Given the description of an element on the screen output the (x, y) to click on. 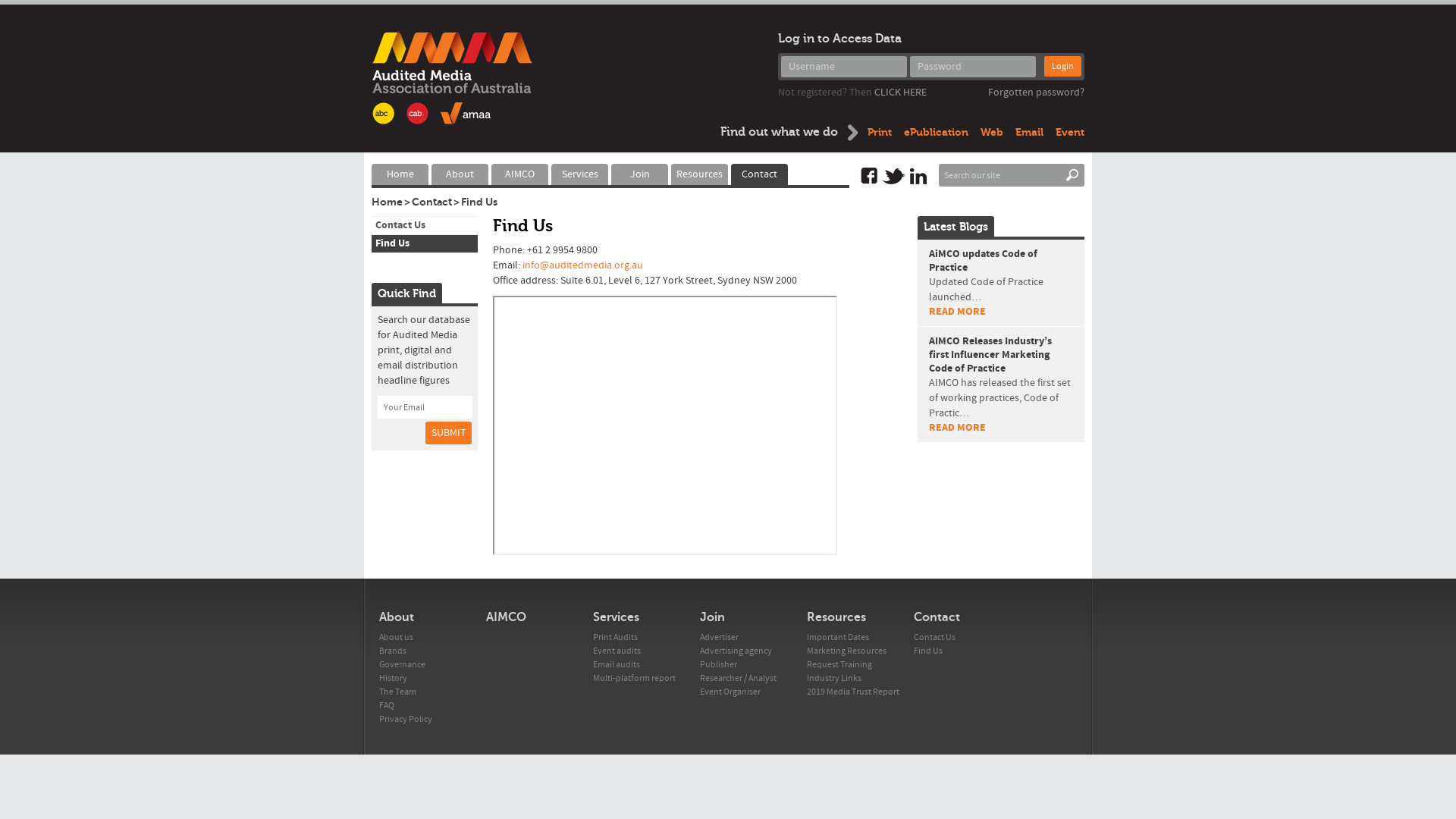
Governance Element type: text (402, 664)
Industry Links Element type: text (833, 678)
2019 Media Trust Report Element type: text (852, 691)
Print Audits Element type: text (615, 637)
About Element type: text (459, 174)
Privacy Policy Element type: text (405, 718)
Find Us Element type: text (390, 243)
Linkedin Element type: text (918, 175)
Event Organiser Element type: text (729, 691)
AMAA Element type: text (452, 77)
Marketing Resources Element type: text (846, 650)
Forgotten password? Element type: text (1036, 92)
Services Element type: text (616, 617)
Find Us Element type: text (927, 650)
Resources Element type: text (699, 174)
Event audits Element type: text (616, 650)
Resources Element type: text (836, 617)
AiMCO updates Code of Practice Element type: text (982, 260)
The Team Element type: text (397, 691)
Important Dates Element type: text (837, 637)
Contact Us Element type: text (398, 224)
Twitter Element type: text (893, 175)
AIMCO Element type: text (506, 617)
Join Element type: text (639, 174)
Login Element type: text (1062, 66)
Login Element type: text (1063, 174)
Facebook Element type: text (868, 175)
Researcher / Analyst Element type: text (737, 678)
About Element type: text (396, 617)
History Element type: text (393, 678)
ePublication Element type: text (935, 131)
Advertiser Element type: text (718, 637)
Multi-platform report Element type: text (634, 678)
AIMCO Element type: text (519, 174)
Publisher Element type: text (718, 664)
info@auditedmedia.org.au Element type: text (582, 265)
About us Element type: text (396, 637)
Contact Element type: text (431, 201)
CLICK HERE Element type: text (900, 92)
SUBMIT Element type: text (448, 432)
Home Element type: text (399, 174)
Advertising agency Element type: text (735, 650)
Brands Element type: text (392, 650)
Find Us Element type: text (479, 201)
READ MORE Element type: text (956, 427)
Contact Element type: text (759, 174)
Contact Us Element type: text (934, 637)
Contact Element type: text (936, 617)
FAQ Element type: text (386, 705)
Web Element type: text (991, 131)
READ MORE Element type: text (956, 311)
Join Element type: text (711, 617)
Services Element type: text (579, 174)
Email audits Element type: text (616, 664)
Home Element type: text (386, 201)
Email Element type: text (1029, 131)
Request Training Element type: text (839, 664)
Print Element type: text (879, 131)
Event Element type: text (1069, 131)
